Given the description of an element on the screen output the (x, y) to click on. 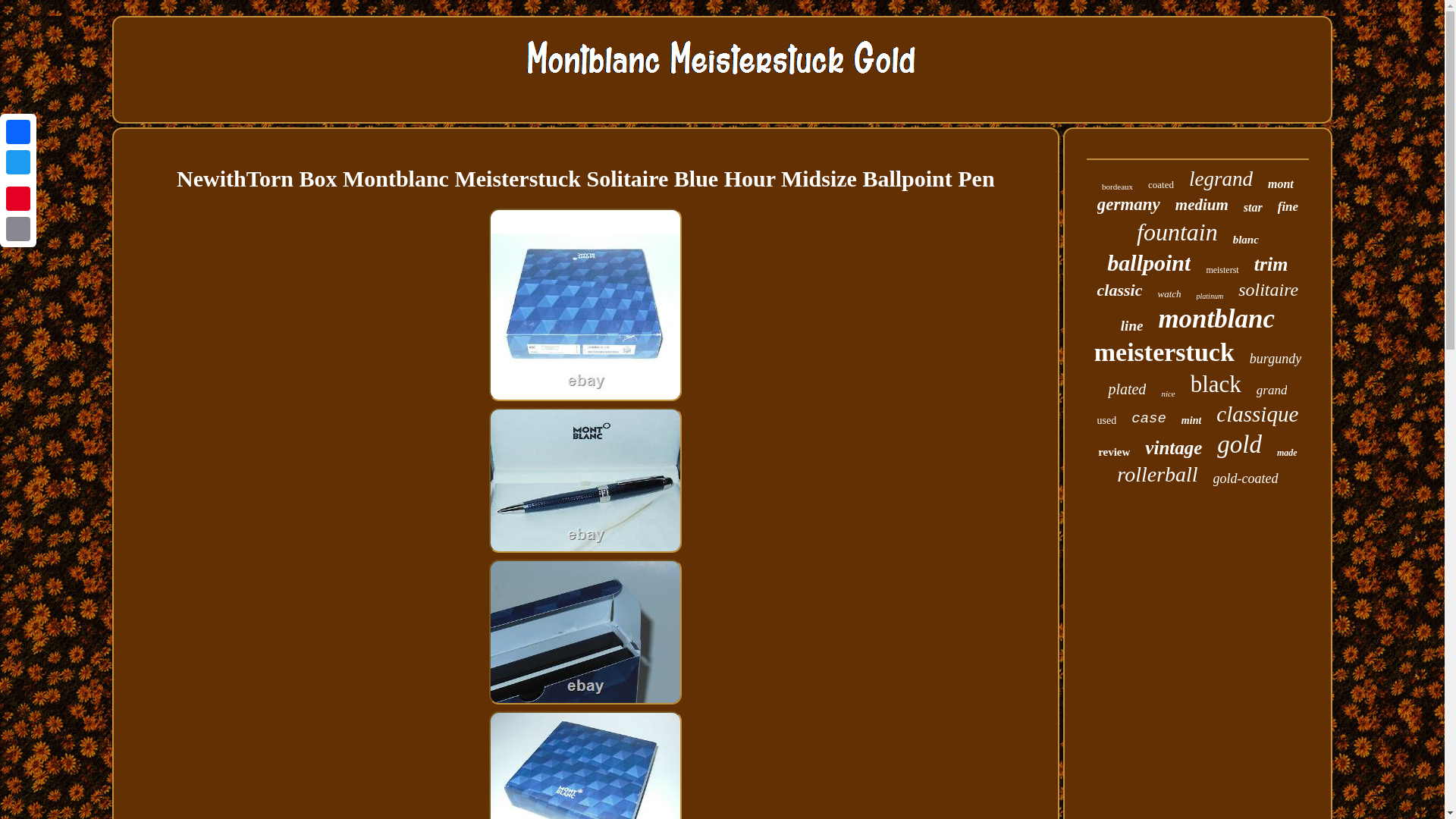
blanc (1246, 239)
ballpoint (1148, 263)
Facebook (17, 132)
burgundy (1275, 358)
germany (1128, 204)
grand (1271, 390)
platinum (1210, 295)
nice (1167, 393)
trim (1270, 264)
used (1106, 420)
case (1148, 418)
plated (1126, 389)
